Given the description of an element on the screen output the (x, y) to click on. 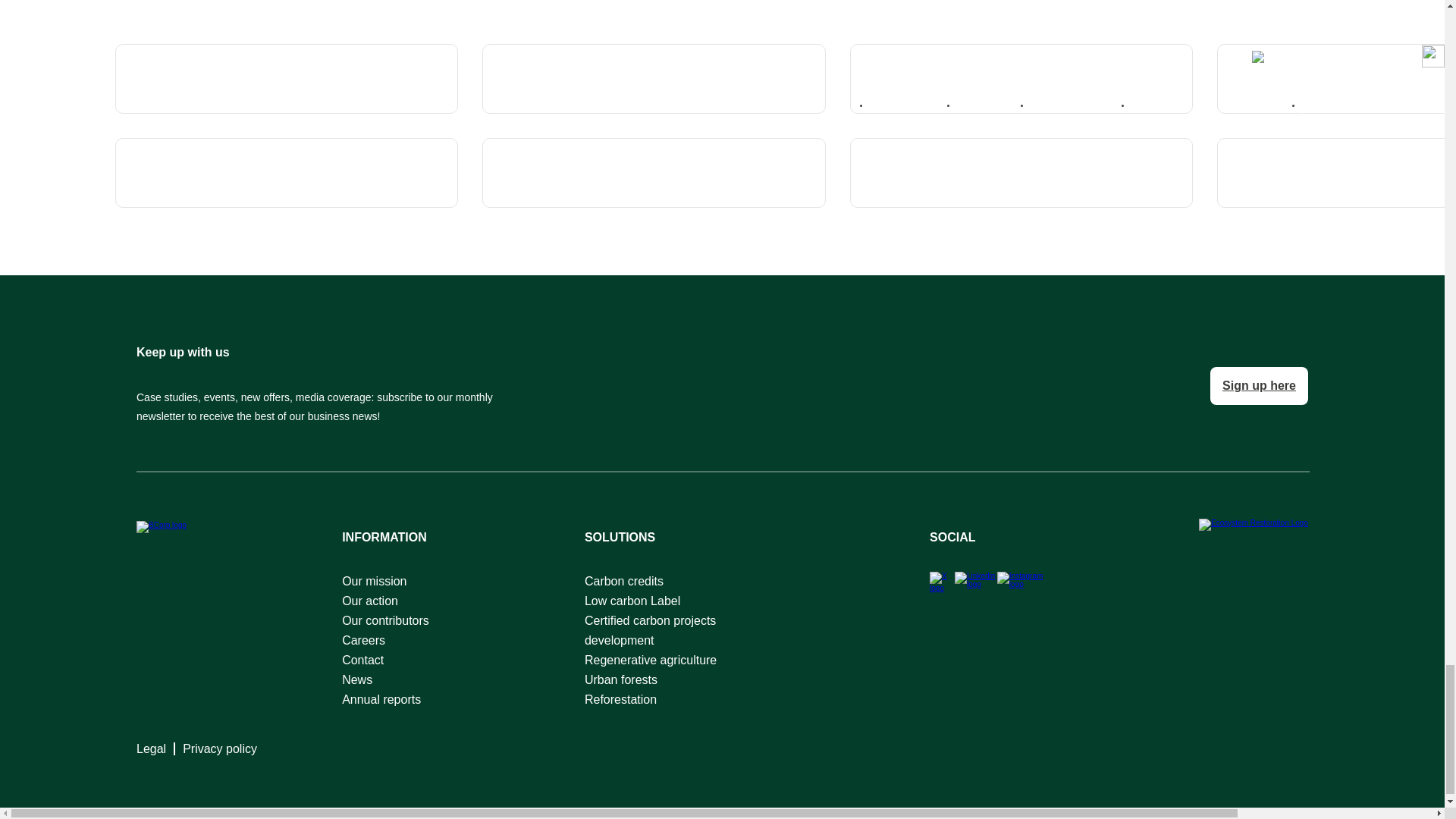
Our action (385, 600)
Carbon credits (679, 581)
Careers (385, 640)
Contact (385, 660)
Certified carbon projects development (679, 630)
News (385, 680)
Our contributors (385, 620)
Annual reports (385, 700)
Our mission (385, 581)
Low carbon Label (679, 600)
Sign up here (1258, 385)
